Given the description of an element on the screen output the (x, y) to click on. 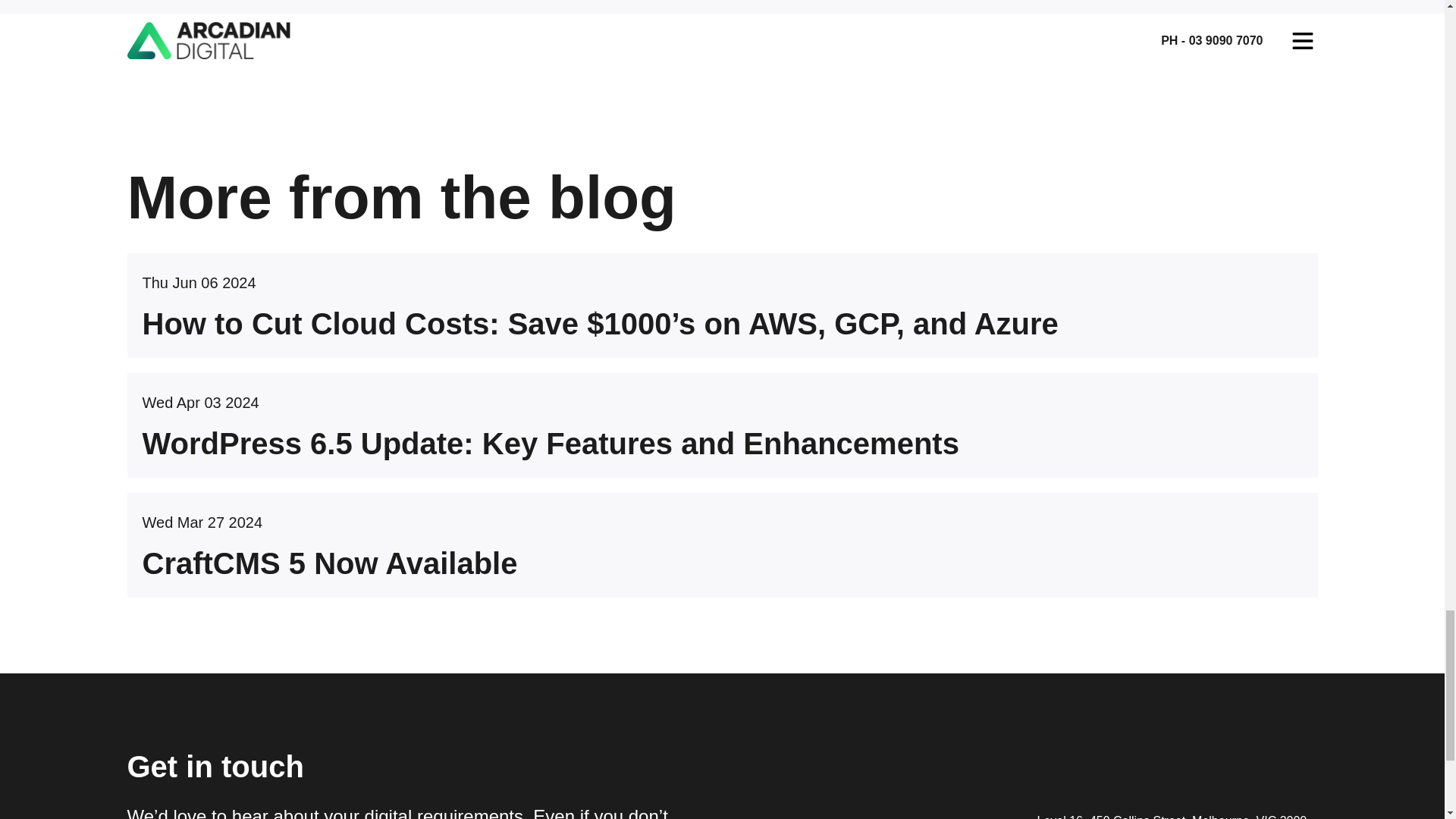
WordPress 6.5 Update: Key Features and Enhancements (722, 460)
CraftCMS 5 Now Available (722, 579)
